Given the description of an element on the screen output the (x, y) to click on. 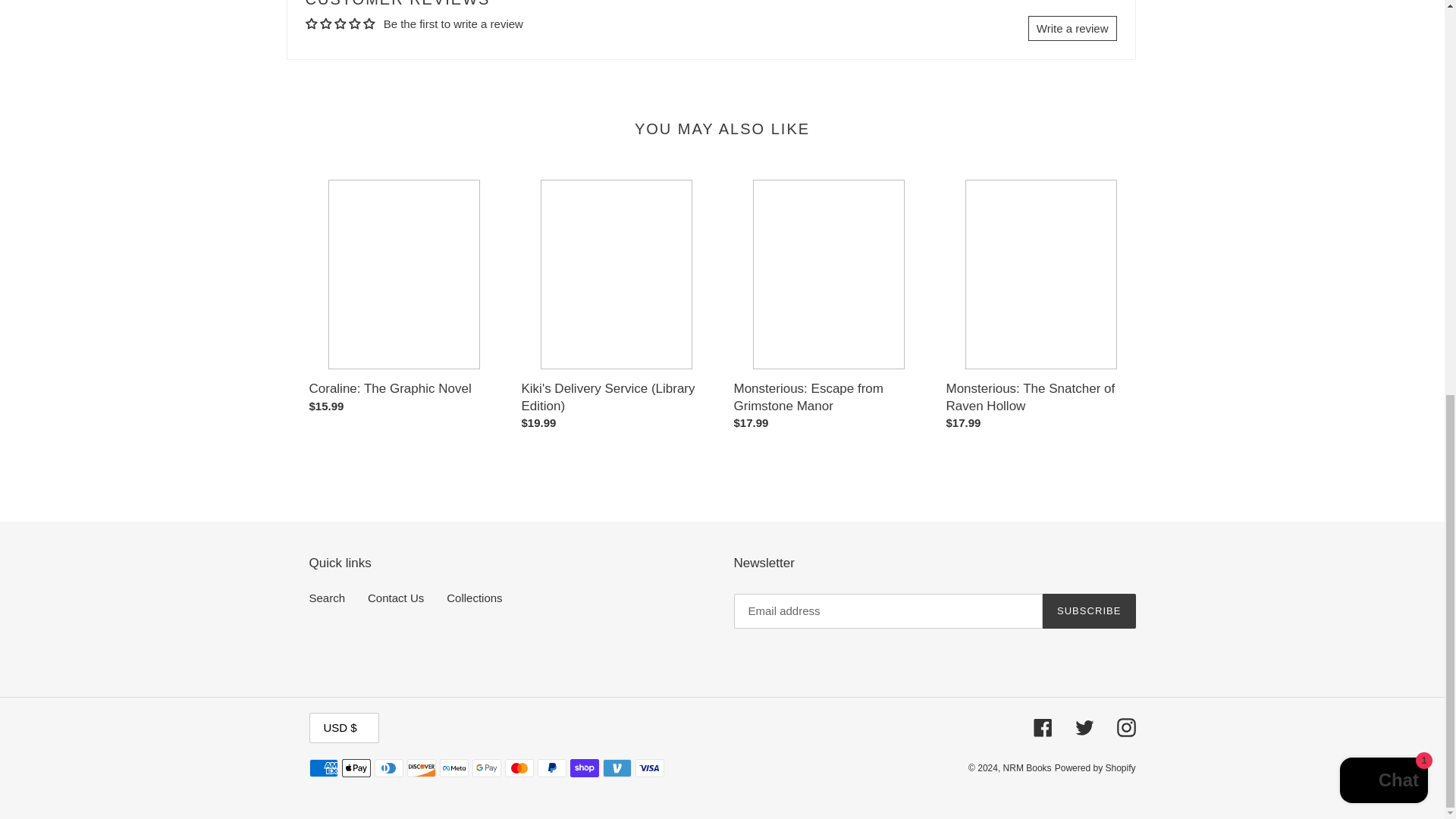
Shopify online store chat (1383, 22)
Write a review (1071, 27)
